Given the description of an element on the screen output the (x, y) to click on. 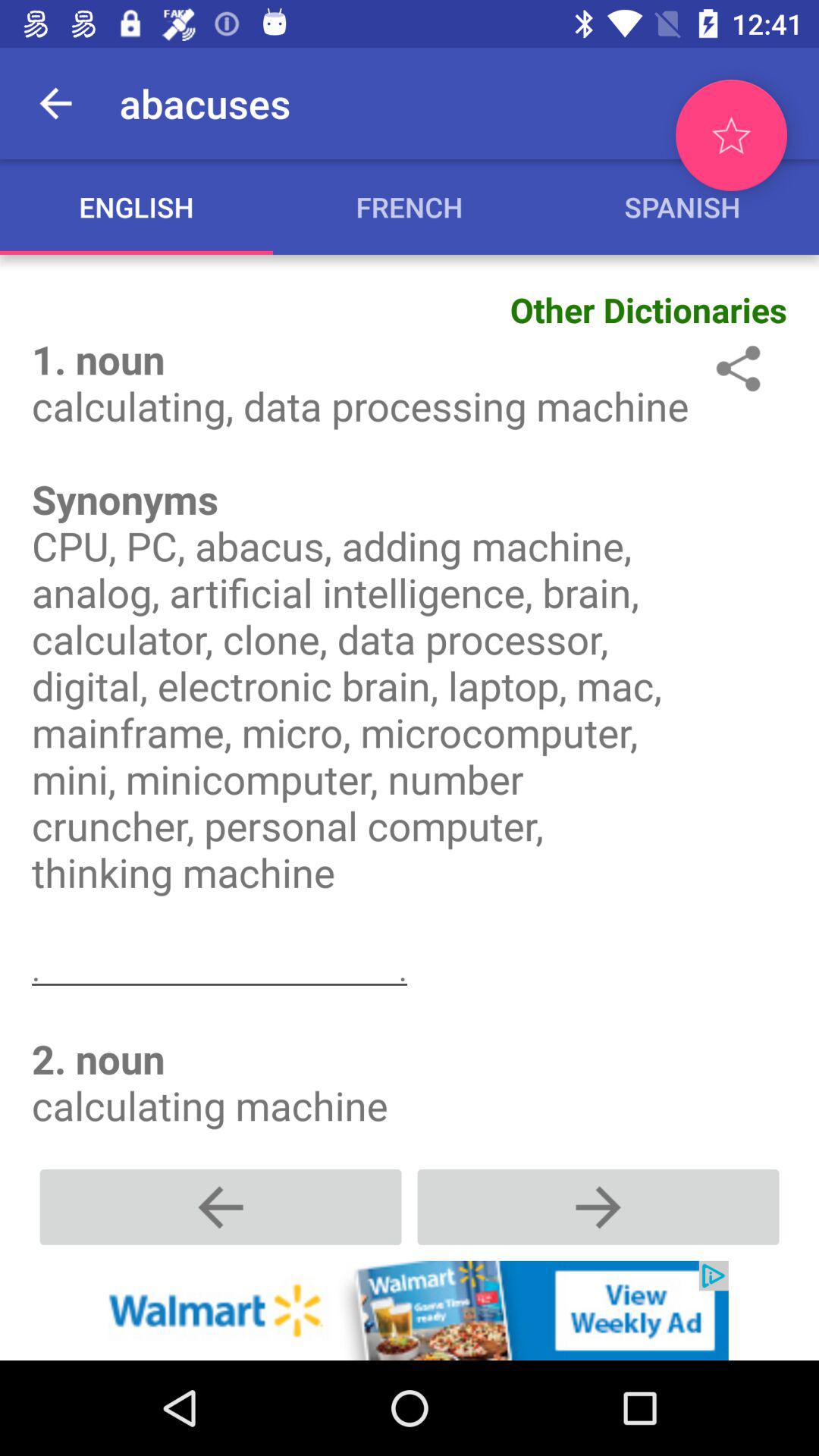
click to share option (735, 368)
